Given the description of an element on the screen output the (x, y) to click on. 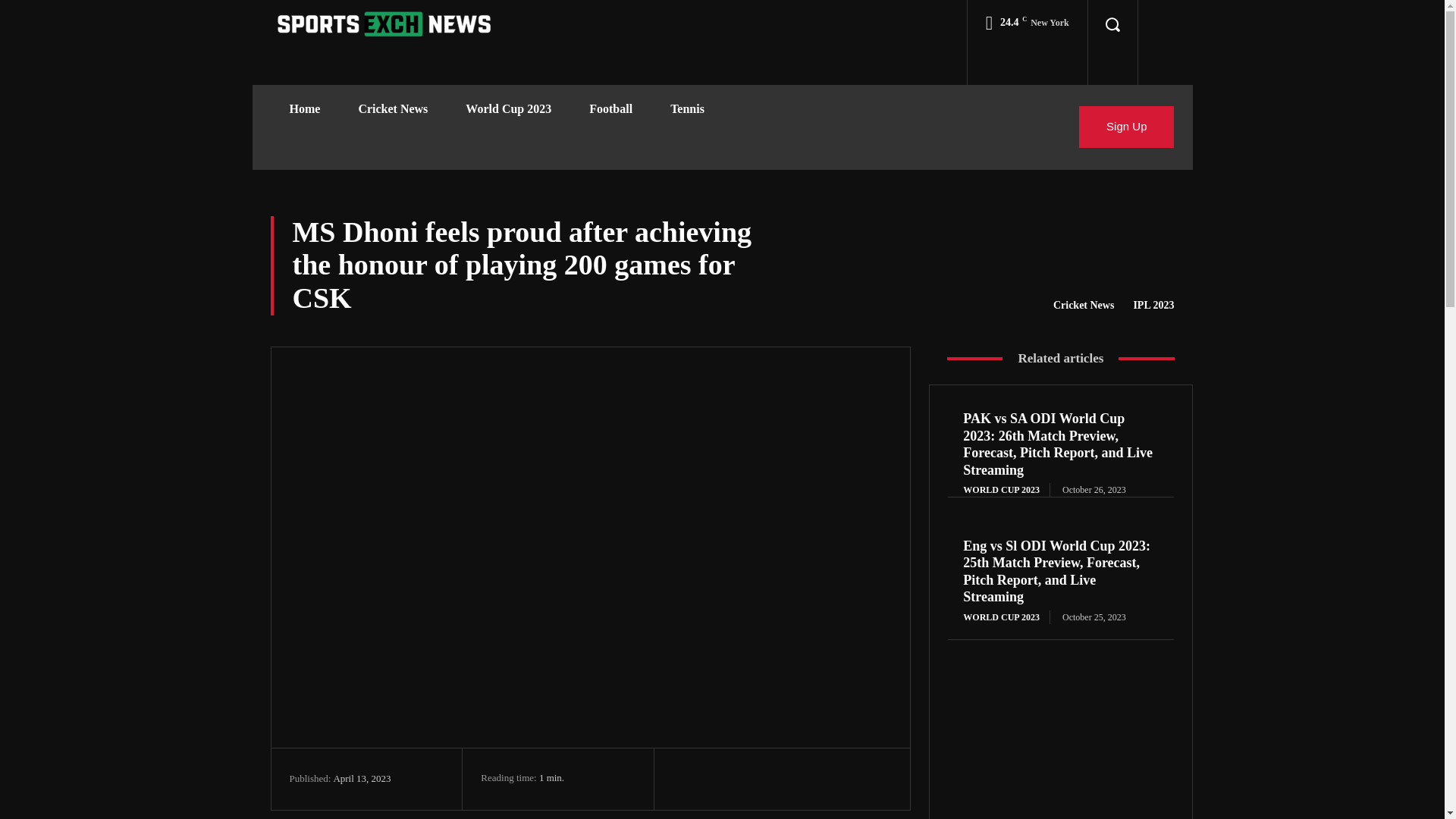
Tennis (686, 109)
Cricket News (1082, 305)
Cricket News (392, 109)
Sign Up (1125, 127)
World Cup 2023 (508, 109)
Sign Up (1125, 127)
Football (610, 109)
IPL 2023 (1152, 305)
Home (304, 109)
